Given the description of an element on the screen output the (x, y) to click on. 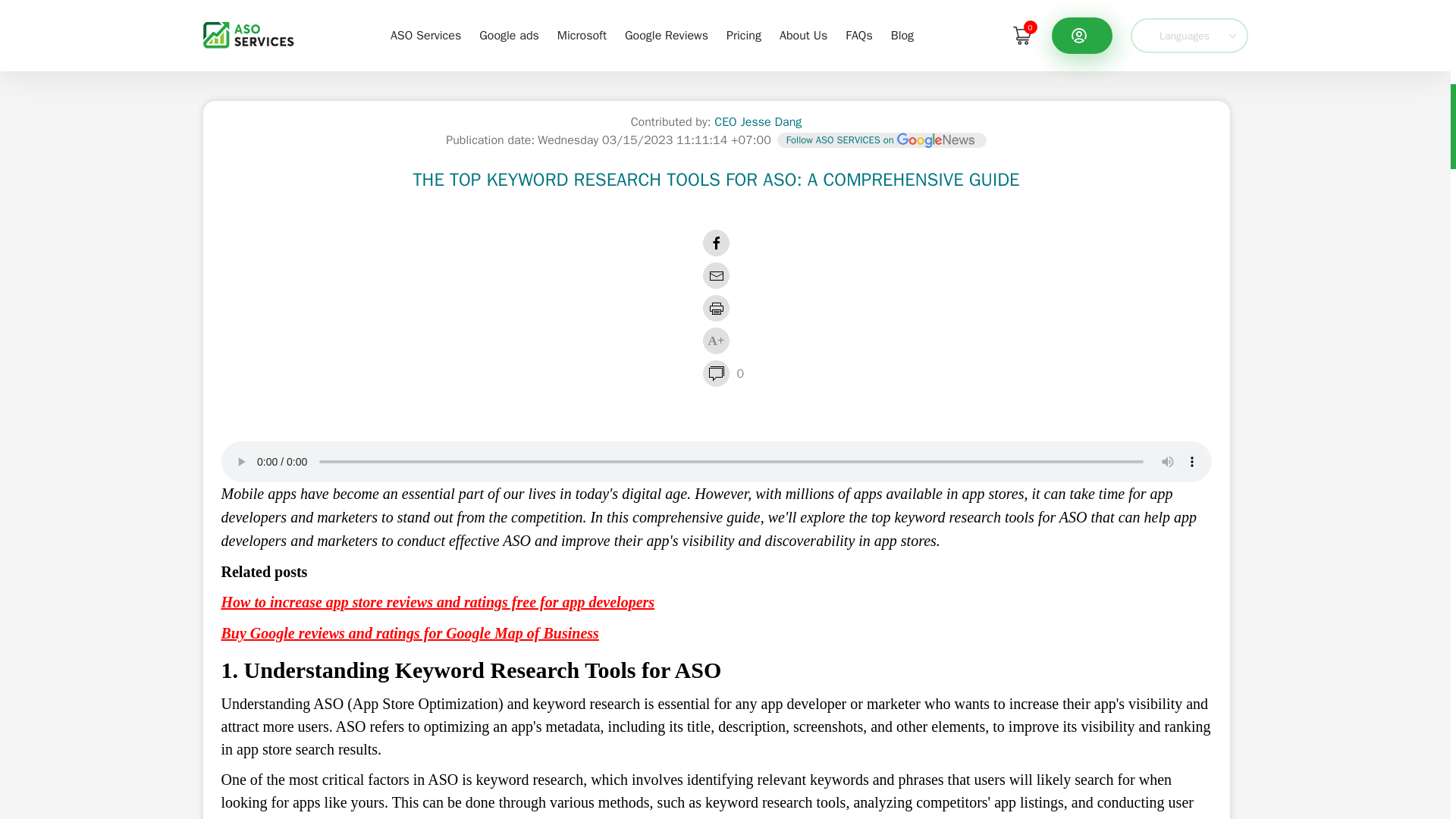
CEO Jesse Dang (758, 121)
Follow ASO SERVICES on (880, 140)
